Given the description of an element on the screen output the (x, y) to click on. 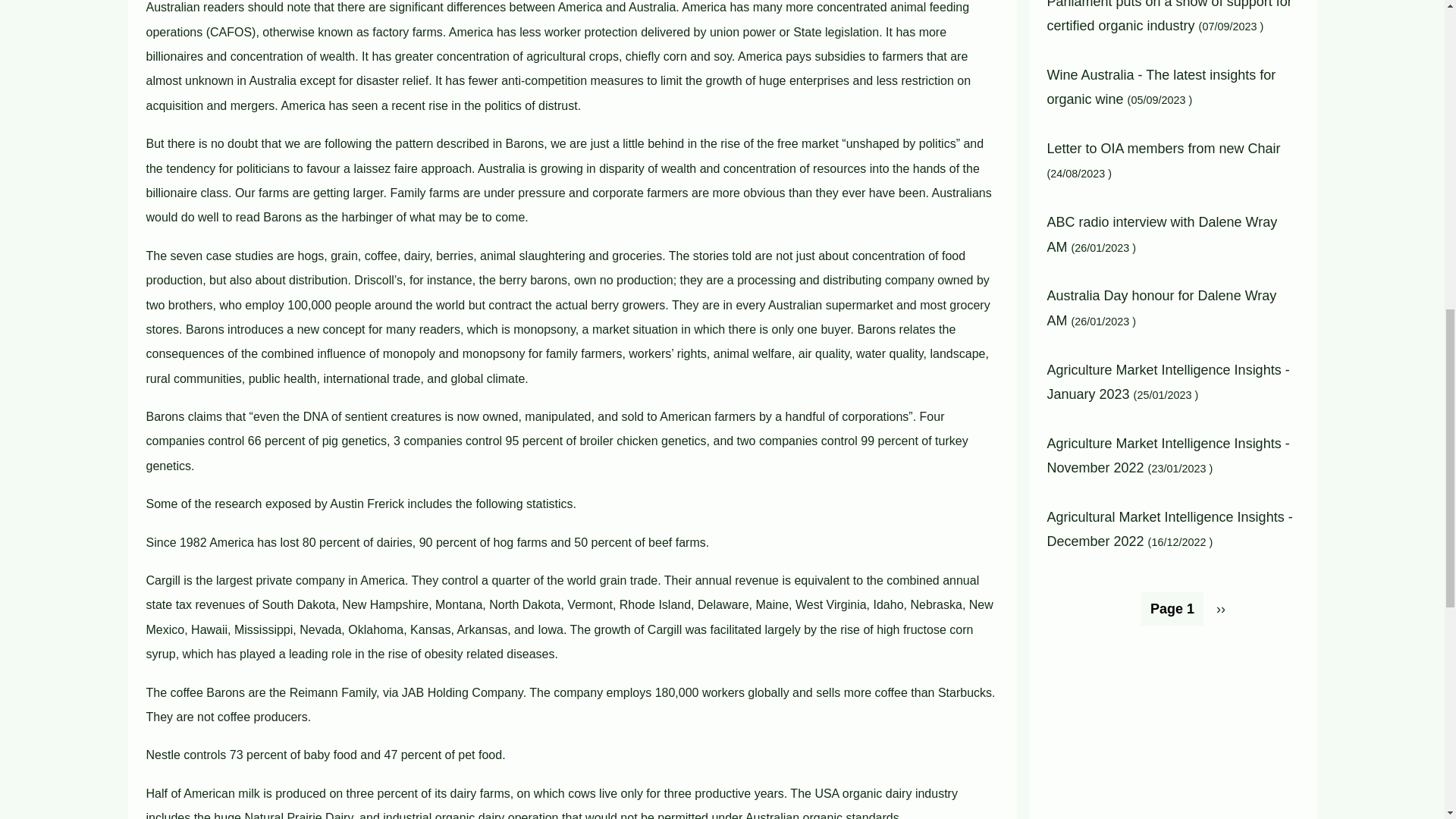
Go to next page (1220, 608)
